Given the description of an element on the screen output the (x, y) to click on. 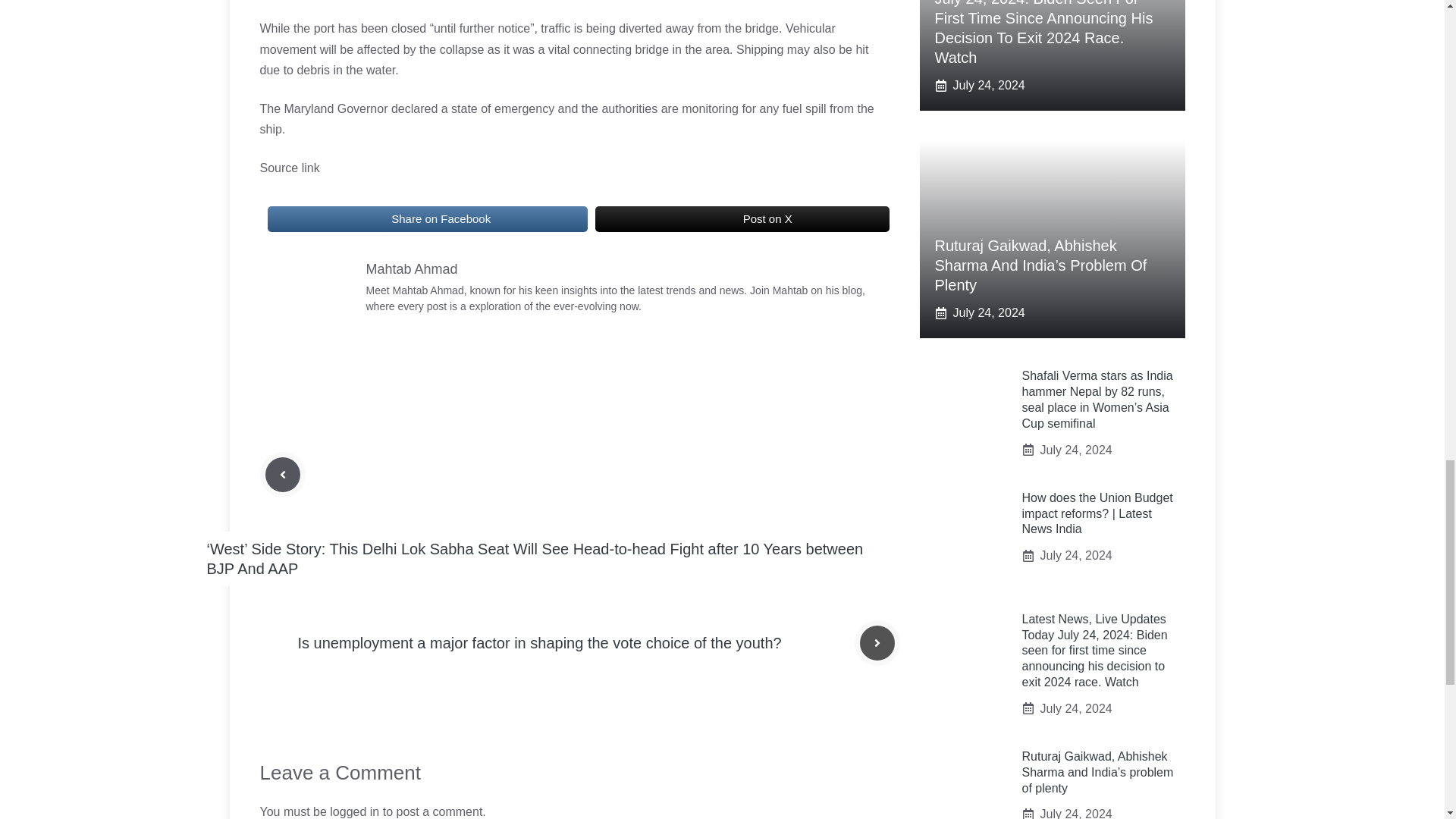
6 Feared Dead, Indian Crew Safe On Ship That Collided (374, 218)
Share on Facebook (426, 218)
logged in (354, 811)
6 Feared Dead, Indian Crew Safe On Ship That Collided (312, 297)
Mahtab Ahmad (411, 268)
Source link (288, 167)
6 Feared Dead, Indian Crew Safe On Ship That Collided (714, 218)
Post on X (742, 218)
